Given the description of an element on the screen output the (x, y) to click on. 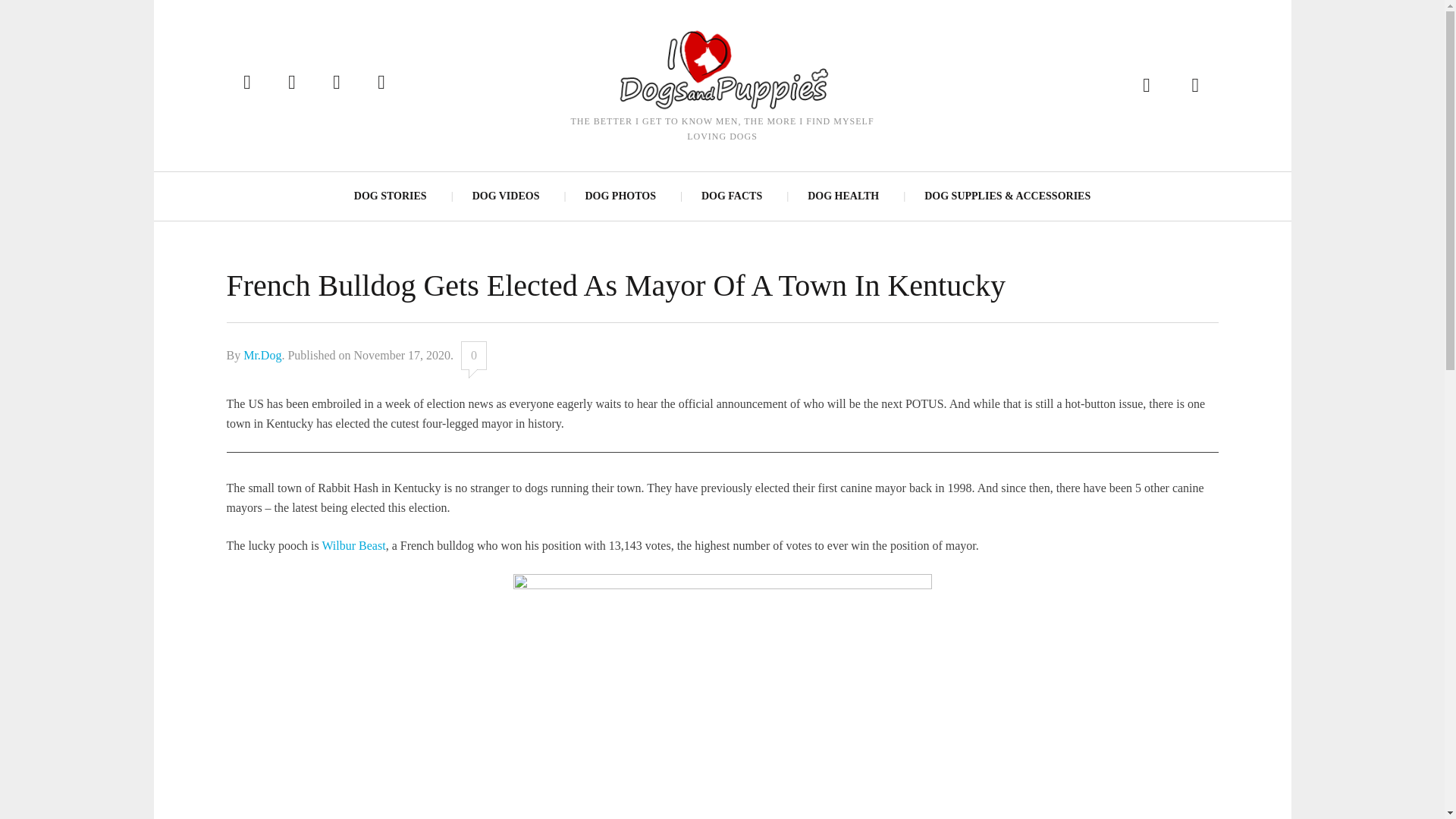
Mr.Dog (262, 354)
Wilbur Beast (353, 545)
DOG PHOTOS (619, 195)
DOG STORIES (390, 195)
DOG VIDEOS (505, 195)
DOG HEALTH (842, 195)
DOG FACTS (731, 195)
0 (473, 355)
Posts by Mr.Dog (262, 354)
ILoveDogsAndPuppies (721, 68)
